Given the description of an element on the screen output the (x, y) to click on. 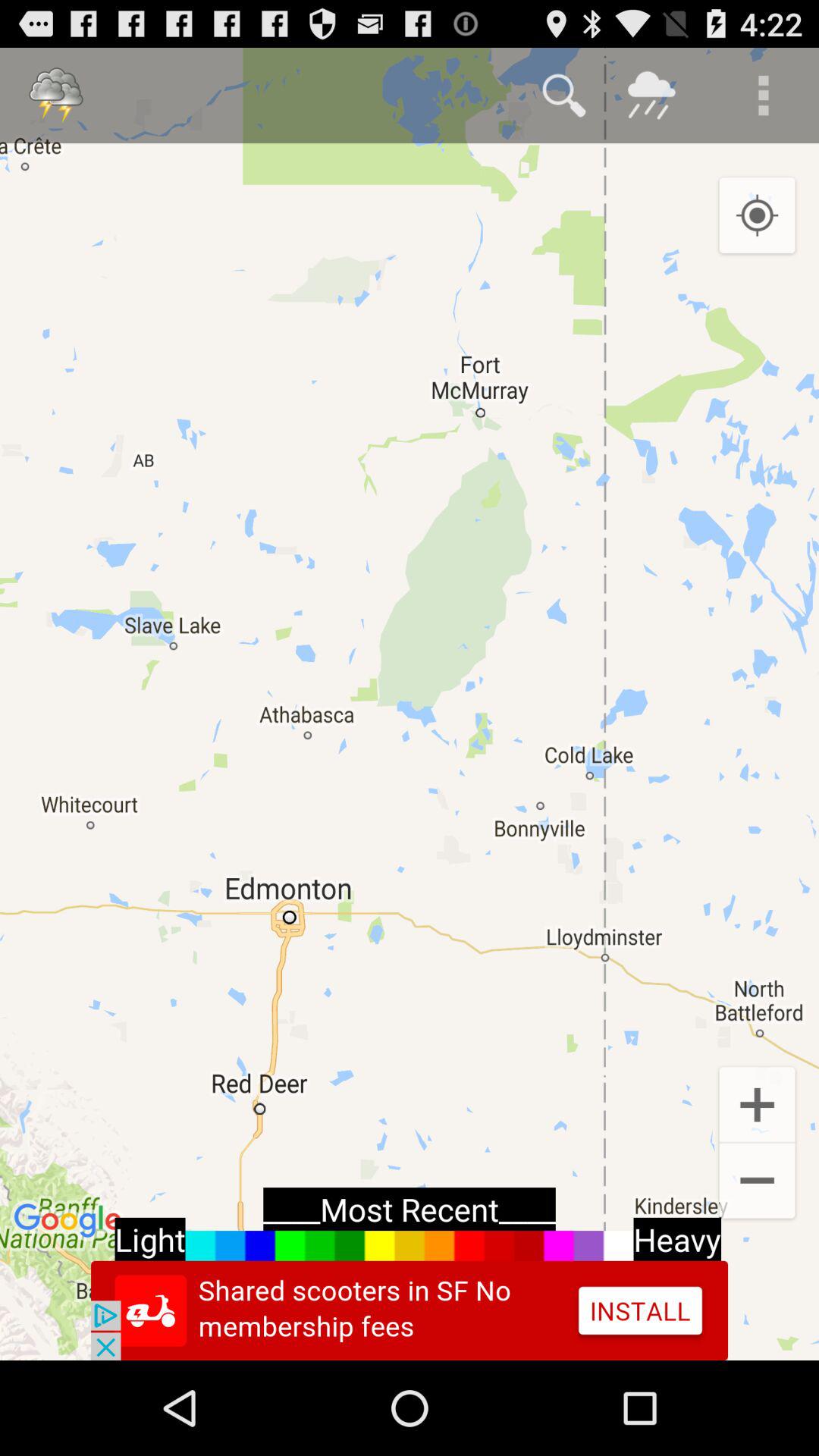
search (564, 95)
